Given the description of an element on the screen output the (x, y) to click on. 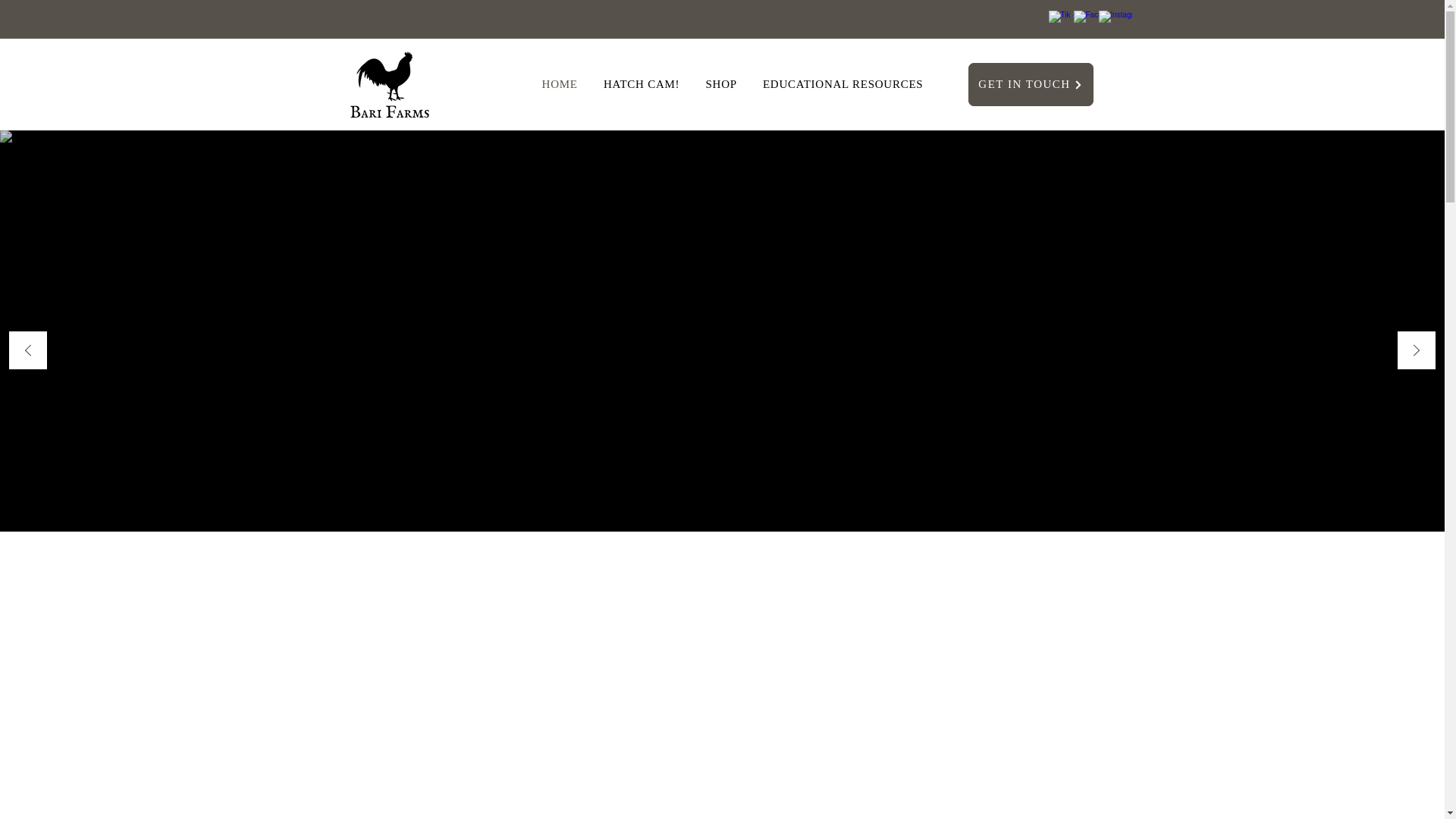
HATCH CAM! (642, 84)
HOME (560, 84)
EDUCATIONAL RESOURCES (842, 84)
GET IN TOUCH (1030, 84)
